Given the description of an element on the screen output the (x, y) to click on. 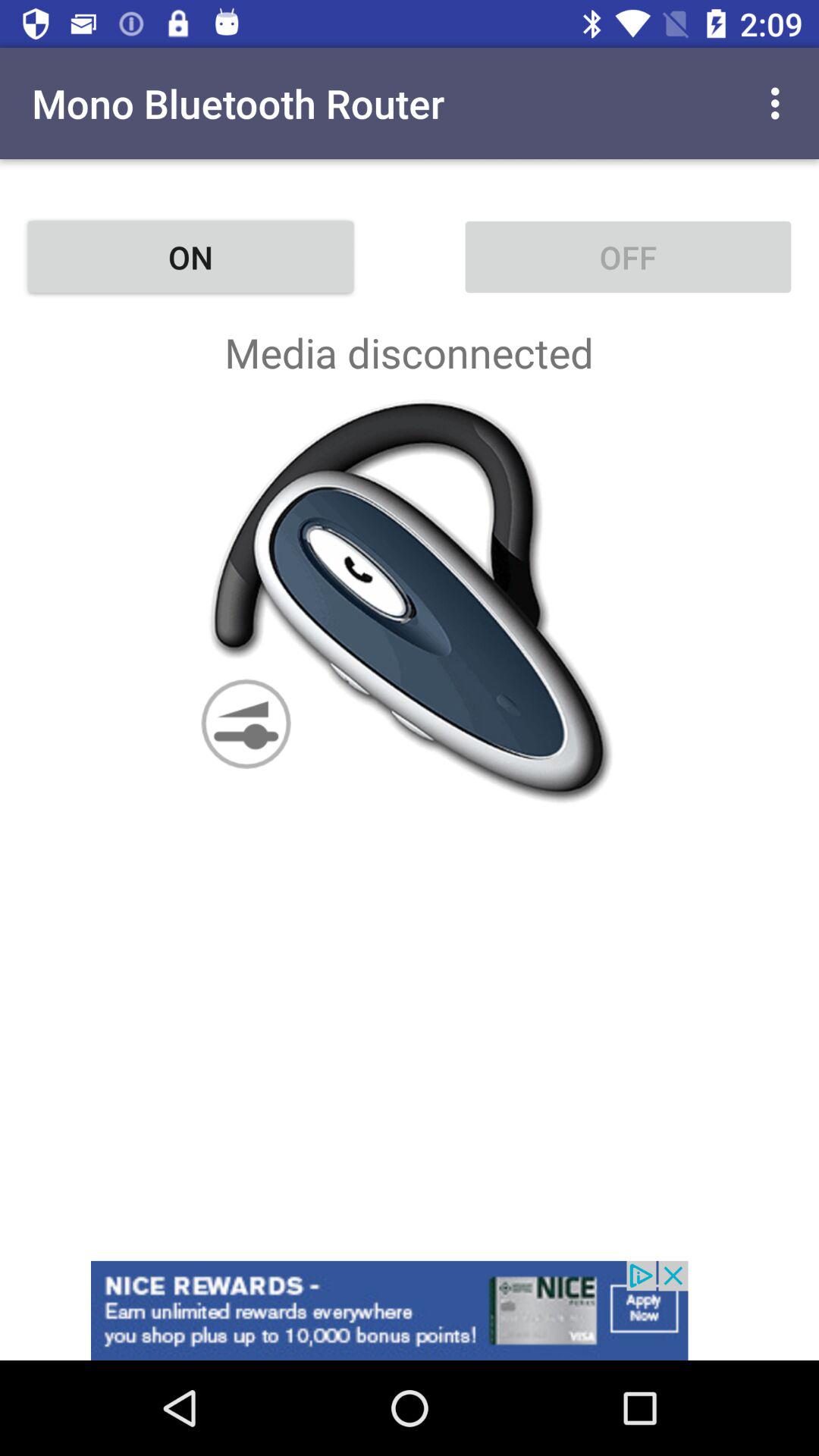
add the option (409, 1310)
